Given the description of an element on the screen output the (x, y) to click on. 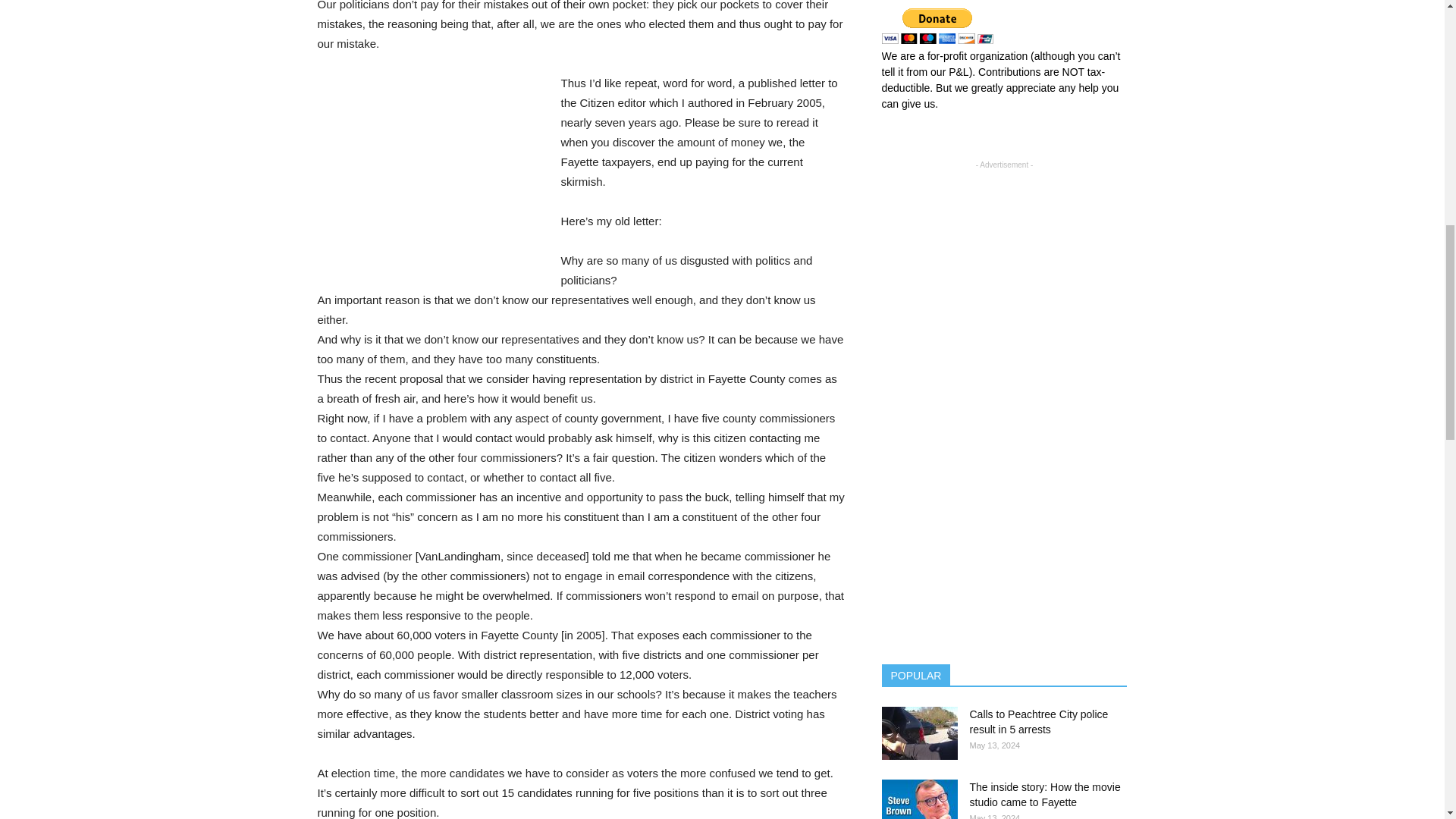
The inside story: How the movie studio came to Fayette (918, 799)
3rd party ad content (430, 175)
Calls to Peachtree City police result in 5 arrests (1038, 721)
Calls to Peachtree City police result in 5 arrests (918, 733)
PayPal - The safer, easier way to pay online! (936, 26)
